Given the description of an element on the screen output the (x, y) to click on. 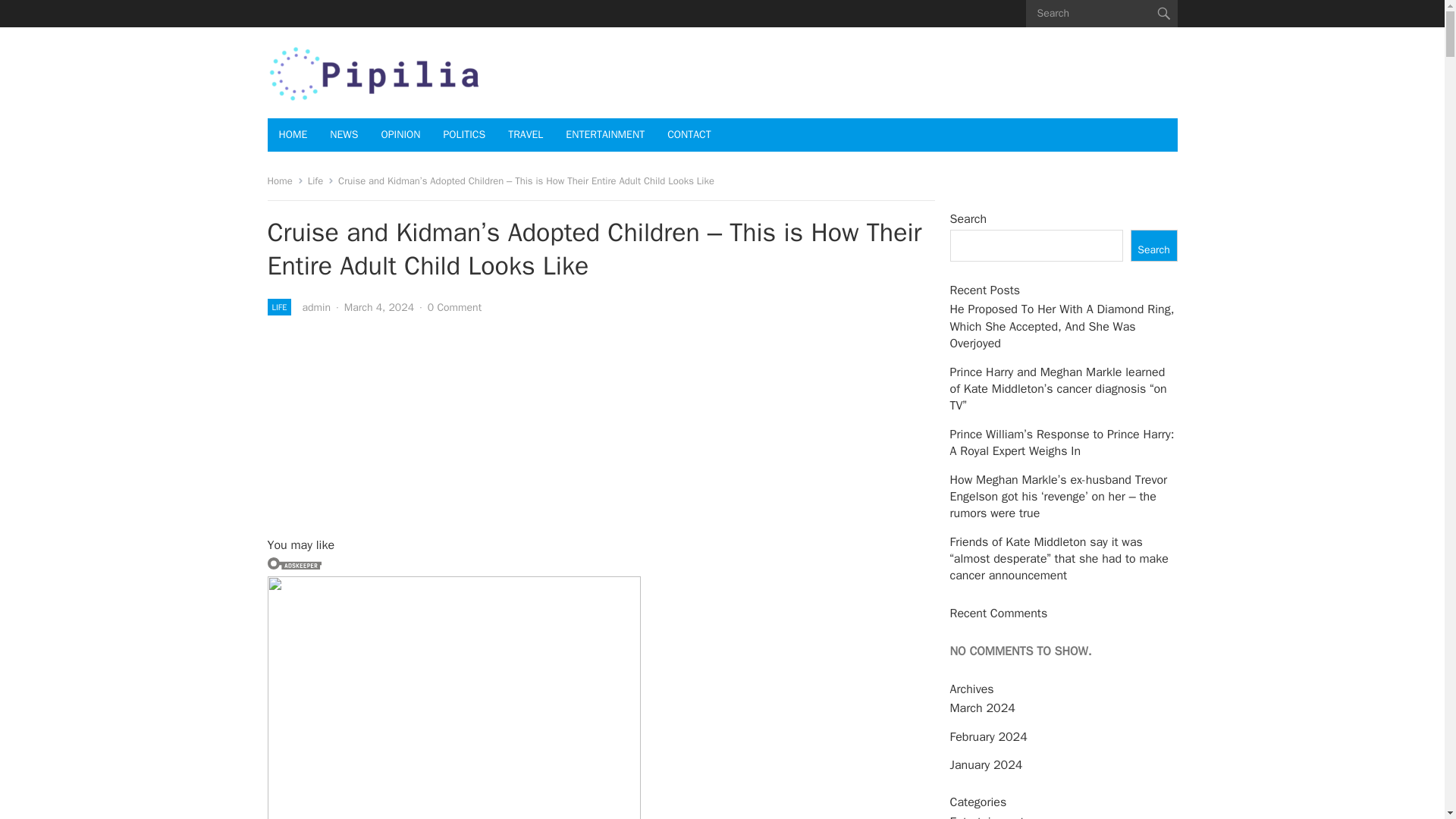
admin (315, 307)
0 Comment (454, 307)
ENTERTAINMENT (605, 134)
Search (1152, 245)
NEWS (343, 134)
CONTACT (689, 134)
Life (320, 180)
TRAVEL (525, 134)
HOME (292, 134)
Advertisement (380, 427)
